Given the description of an element on the screen output the (x, y) to click on. 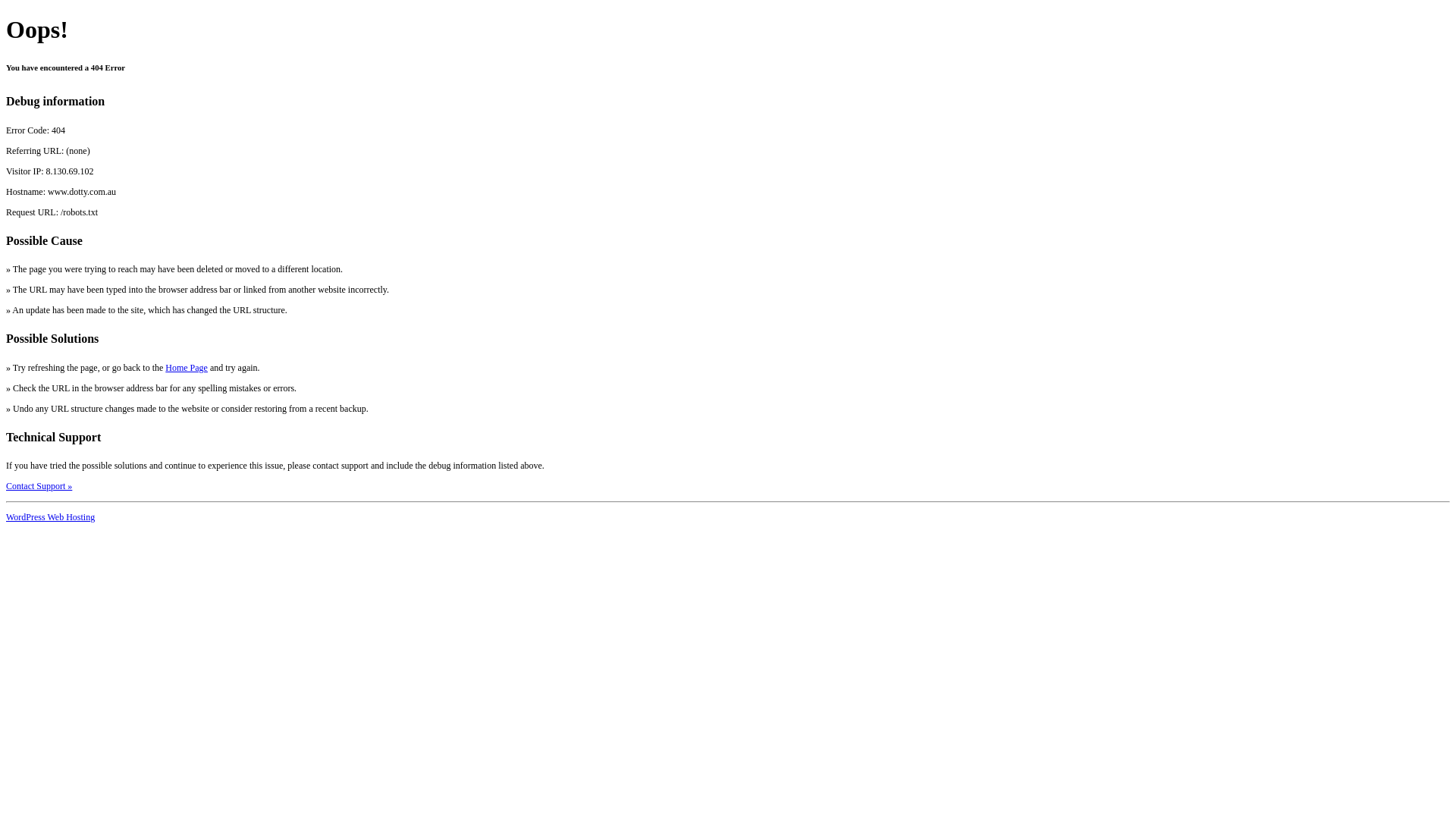
Home Page Element type: text (186, 367)
WordPress Web Hosting Element type: text (50, 516)
